Given the description of an element on the screen output the (x, y) to click on. 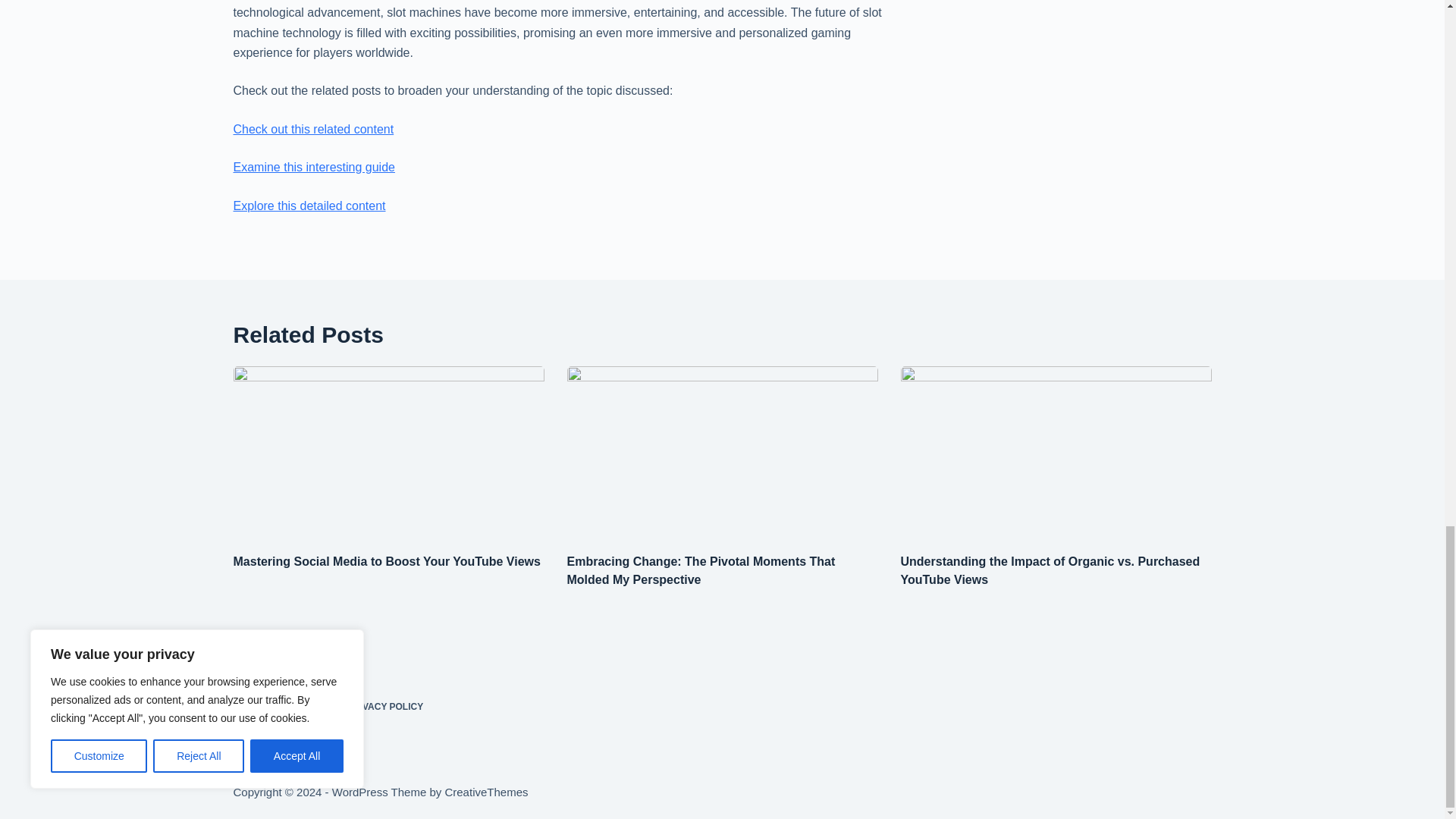
Explore this detailed content (308, 205)
Check out this related content (313, 128)
Examine this interesting guide (313, 166)
